Given the description of an element on the screen output the (x, y) to click on. 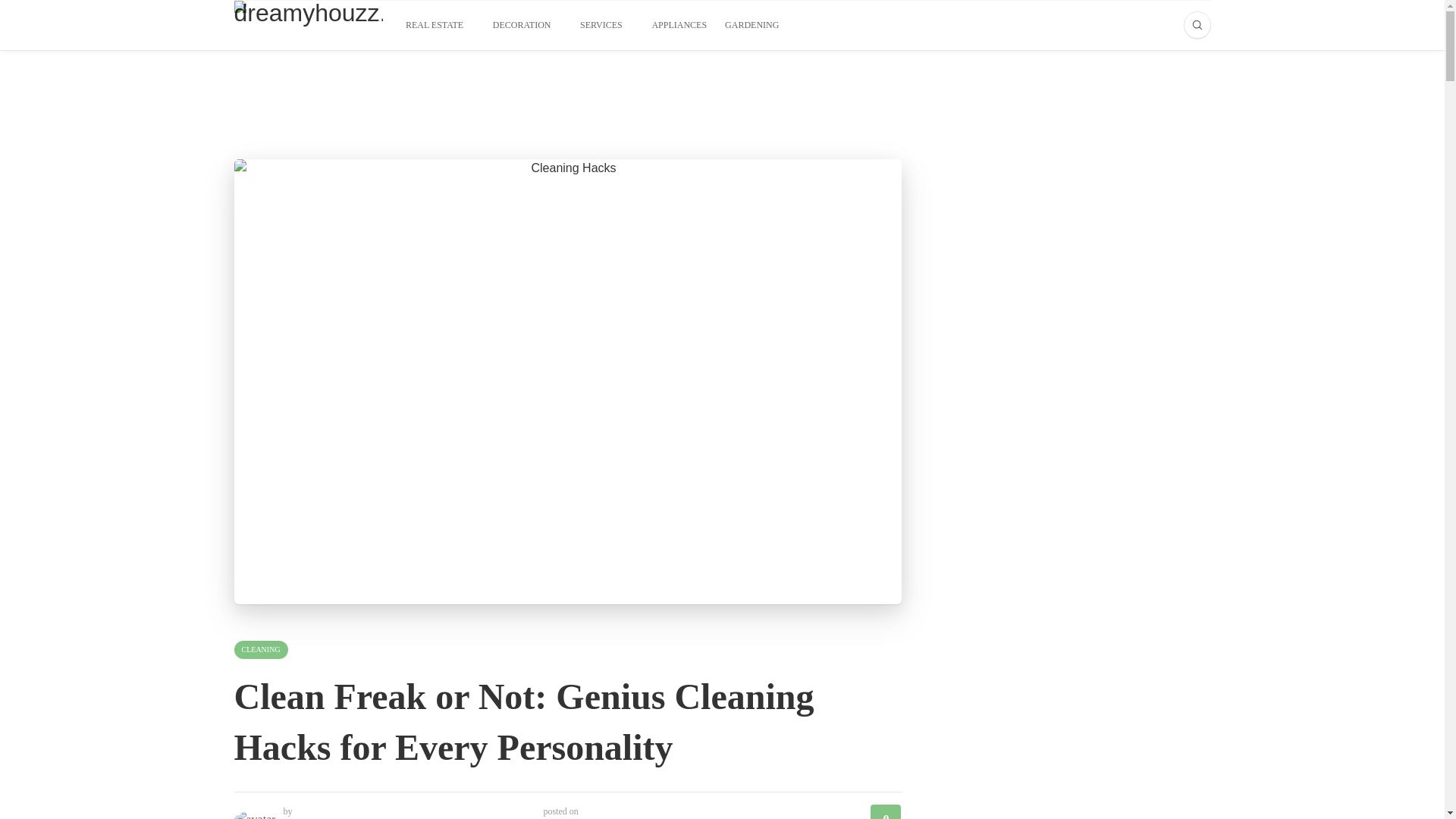
REAL ESTATE (440, 24)
Comment (885, 811)
View all posts in Cleaning (259, 649)
dreamyhouzz.com (306, 24)
APPLIANCES (678, 24)
SERVICES (606, 24)
GARDENING (757, 24)
DECORATION (527, 24)
